Given the description of an element on the screen output the (x, y) to click on. 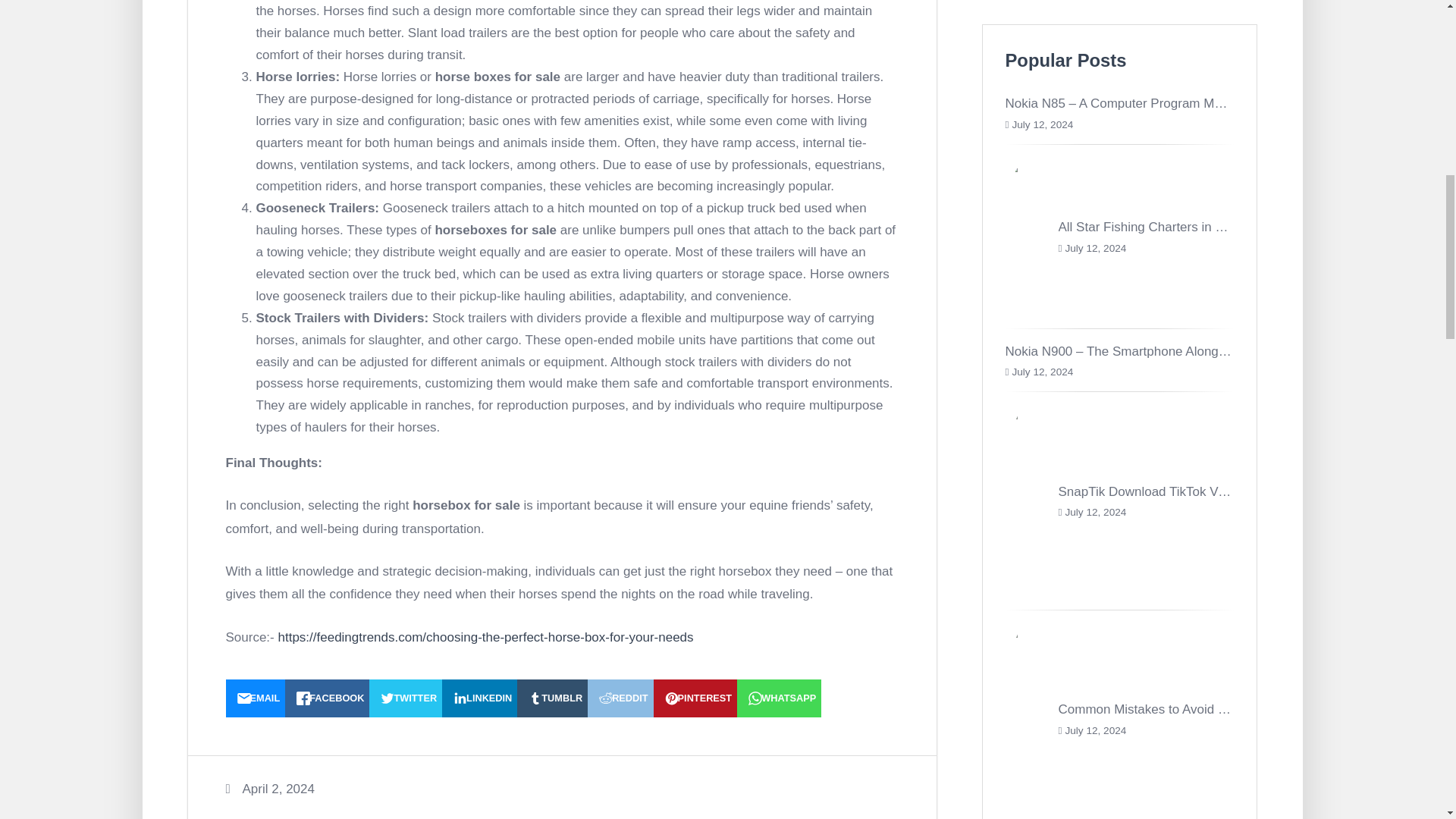
WHATSAPP (778, 698)
SnapTik Download TikTok Video Downloader Without Watermark O (1250, 491)
EMAIL (255, 698)
FACEBOOK (327, 698)
All Star Fishing Charters in Seattle, WA (1170, 227)
LINKEDIN (479, 698)
TUMBLR (552, 698)
REDDIT (620, 698)
July 12, 2024 (1094, 247)
July 12, 2024 (1042, 124)
PINTEREST (695, 698)
Common Mistakes to Avoid When Writing an eBook (1206, 708)
July 12, 2024 (1042, 371)
July 12, 2024 (1094, 730)
TWITTER (405, 698)
